Given the description of an element on the screen output the (x, y) to click on. 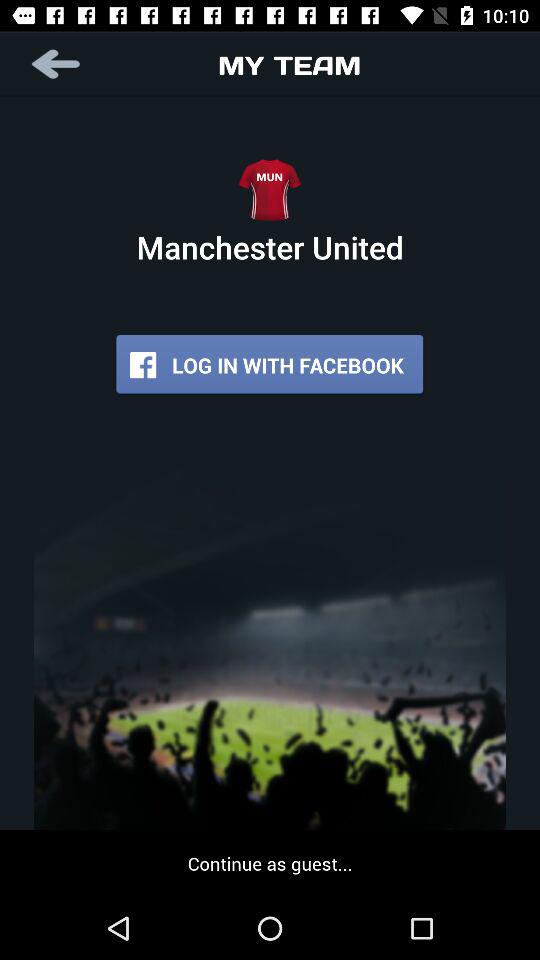
turn off app next to the my team app (57, 63)
